Given the description of an element on the screen output the (x, y) to click on. 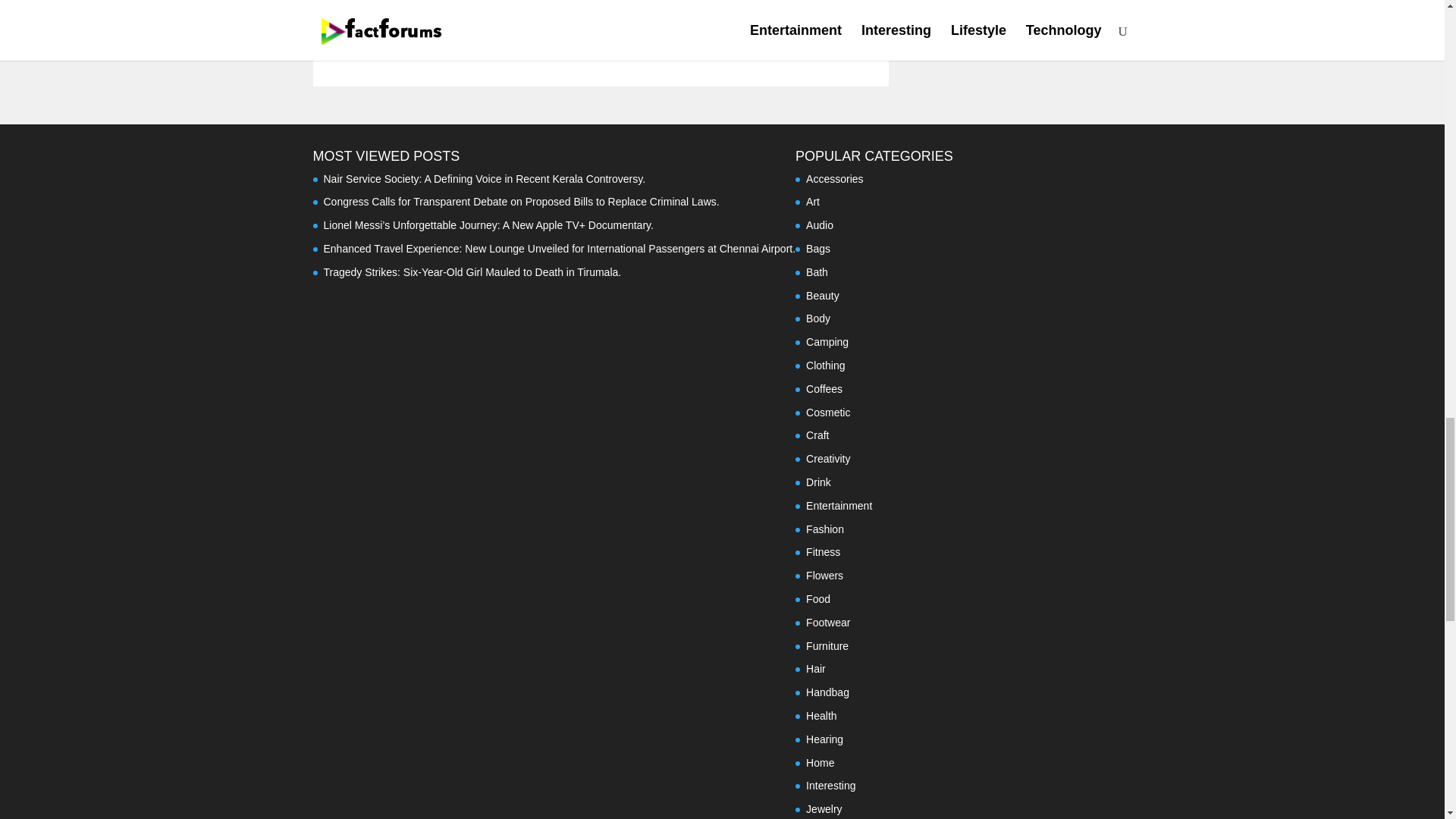
Art (812, 201)
Beauty (823, 295)
Craft (817, 435)
Entertainment (839, 505)
Creativity (828, 458)
Drink (818, 481)
Audio (819, 224)
Bags (817, 248)
